Given the description of an element on the screen output the (x, y) to click on. 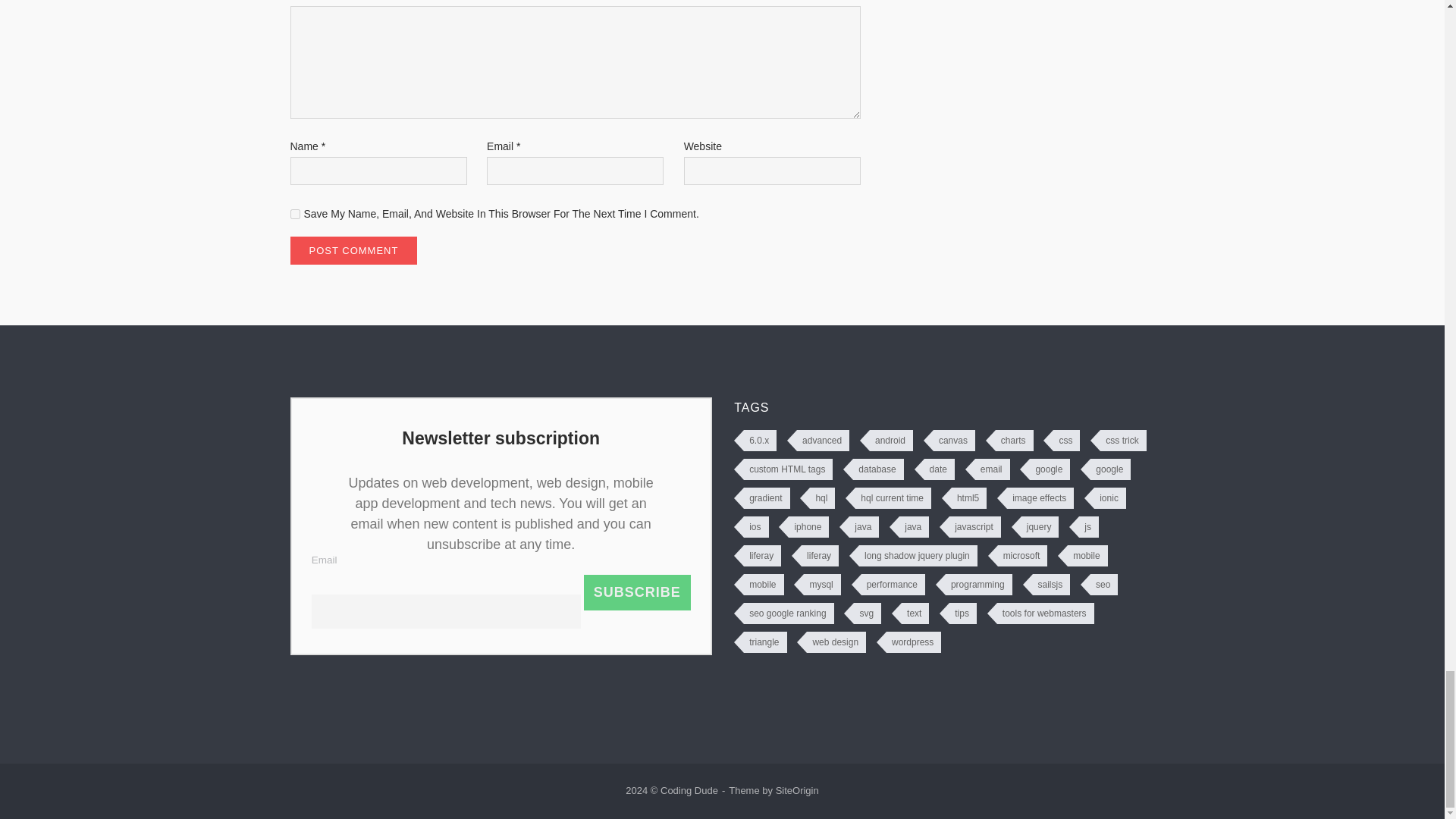
yes (294, 214)
Subscribe (636, 592)
Post Comment (352, 250)
